Given the description of an element on the screen output the (x, y) to click on. 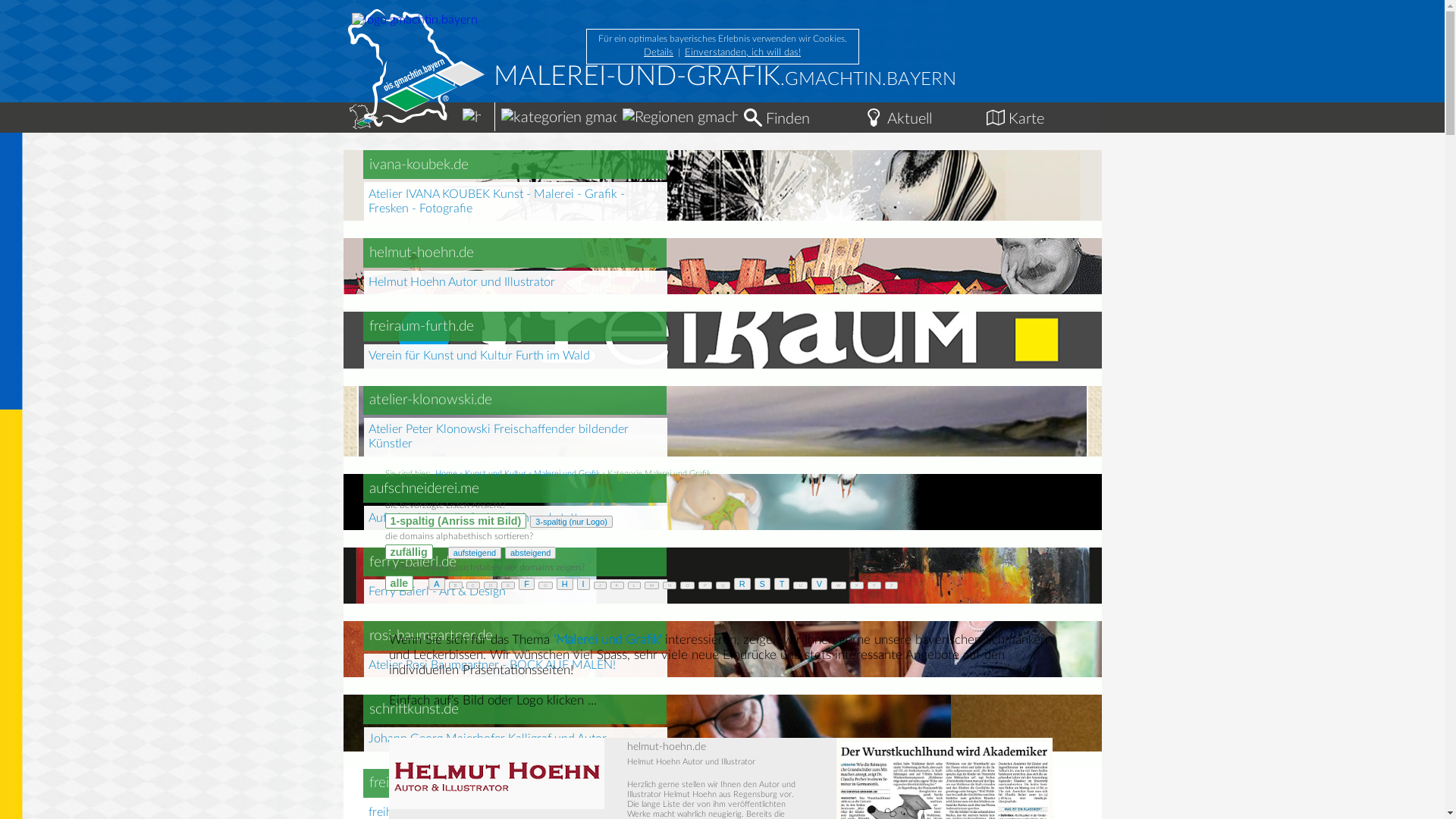
alle Element type: text (399, 582)
P Element type: text (705, 585)
in den Regionen bei gmachtin.bayern Element type: hover (707, 117)
K Element type: text (617, 585)
U Element type: text (799, 585)
B Element type: text (455, 585)
Finden bei gmachtin.bayern Element type: hover (752, 117)
R Element type: text (742, 583)
kategorien bei gmachtin.bayern Element type: hover (590, 117)
H Element type: text (564, 583)
ivana-koubek.de Element type: text (418, 164)
F Element type: text (526, 583)
C Element type: text (473, 585)
Malerei und Grafik Element type: text (566, 473)
helmut-hoehn.de Element type: text (421, 252)
Aktuelle Events im Freistaat Element type: hover (873, 117)
Z Element type: text (891, 585)
D Element type: text (490, 585)
Regionen Element type: text (676, 114)
G Element type: text (545, 585)
Einverstanden, ich will das! Element type: text (742, 52)
rosi-baumgartner.de Element type: text (430, 635)
Kategorien Element type: text (554, 114)
dahoam bei gmachtin.bayern Element type: hover (362, 116)
atelier-klonowski.de Element type: text (430, 399)
Details Element type: text (658, 52)
freihand-ideen.de Element type: text (422, 782)
N Element type: text (669, 585)
1-spaltig (Anriss mit Bild) Element type: text (456, 520)
freiraum-furth.de Element type: text (421, 326)
X Element type: text (856, 585)
A Element type: text (436, 583)
Kunst und Kultur Element type: text (494, 473)
T Element type: text (782, 583)
dahoam bei gmachtin.bayern Element type: hover (471, 117)
Home Element type: text (446, 473)
aufschneiderei.me Element type: text (424, 488)
E Element type: text (507, 585)
absteigend Element type: text (530, 552)
Q Element type: text (722, 585)
M Element type: text (651, 585)
3-spaltig (nur Logo) Element type: text (571, 521)
W Element type: text (838, 585)
schriftkunst.de Element type: text (413, 709)
aufsteigend Element type: text (474, 552)
L Element type: text (633, 585)
Karte Element type: text (1040, 115)
O Element type: text (687, 585)
J Element type: text (599, 585)
Home Element type: text (417, 111)
Y Element type: text (874, 585)
S Element type: text (762, 583)
ferry-baierl.de Element type: text (412, 562)
auf der Karte bei gmachtin.bayern Element type: hover (994, 117)
Finden Element type: text (797, 115)
I Element type: text (583, 583)
Aktuell Element type: text (918, 115)
V Element type: text (819, 583)
